Given the description of an element on the screen output the (x, y) to click on. 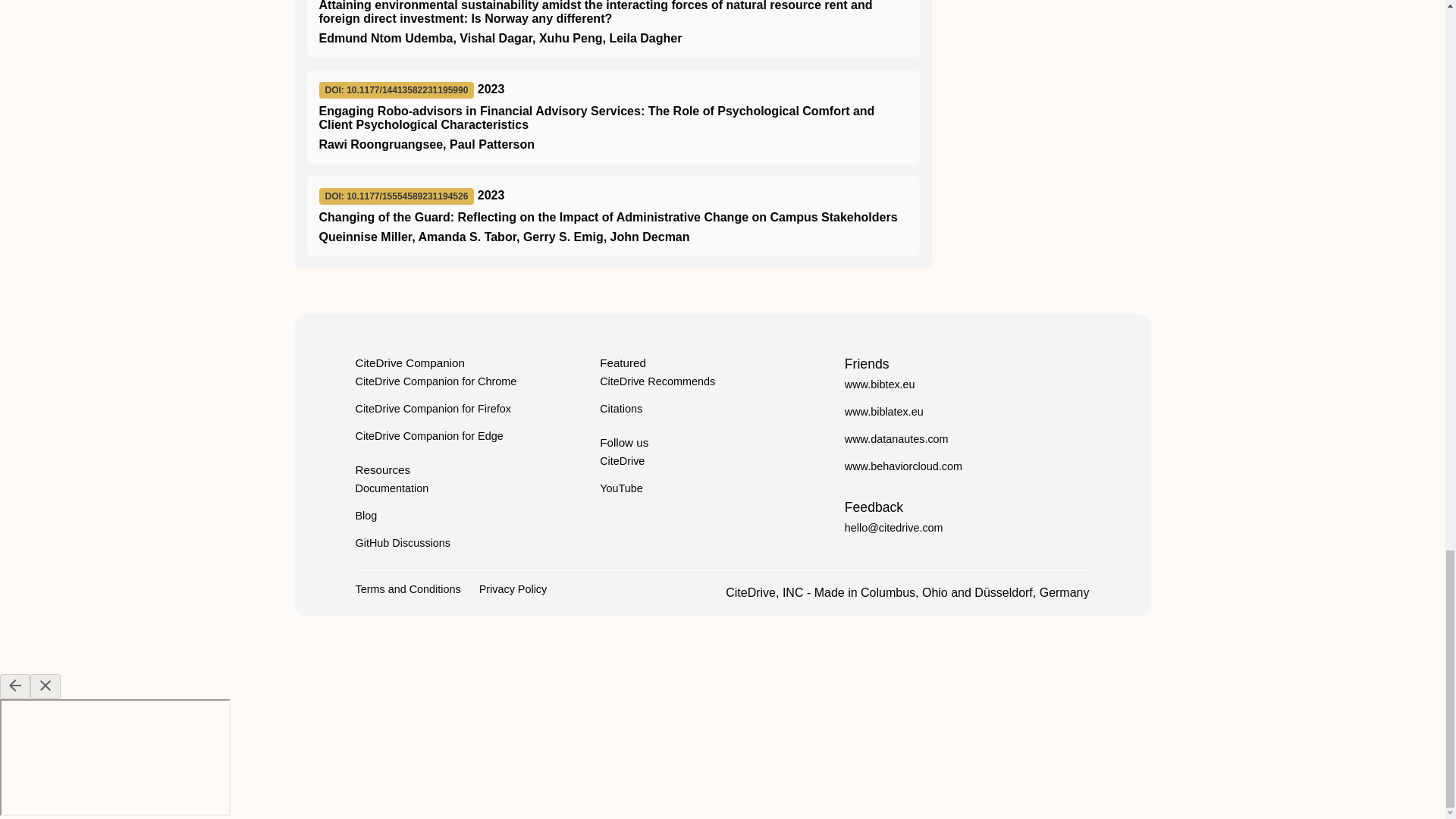
CiteDrive Companion for Edge (428, 435)
CiteDrive Companion for Firefox (433, 408)
CiteDrive Recommends (656, 381)
CiteDrive Companion for Chrome (435, 381)
Blog (366, 515)
Documentation (391, 488)
CiteDrive (622, 460)
Citations (620, 408)
YouTube (621, 488)
GitHub Discussions (402, 542)
